Given the description of an element on the screen output the (x, y) to click on. 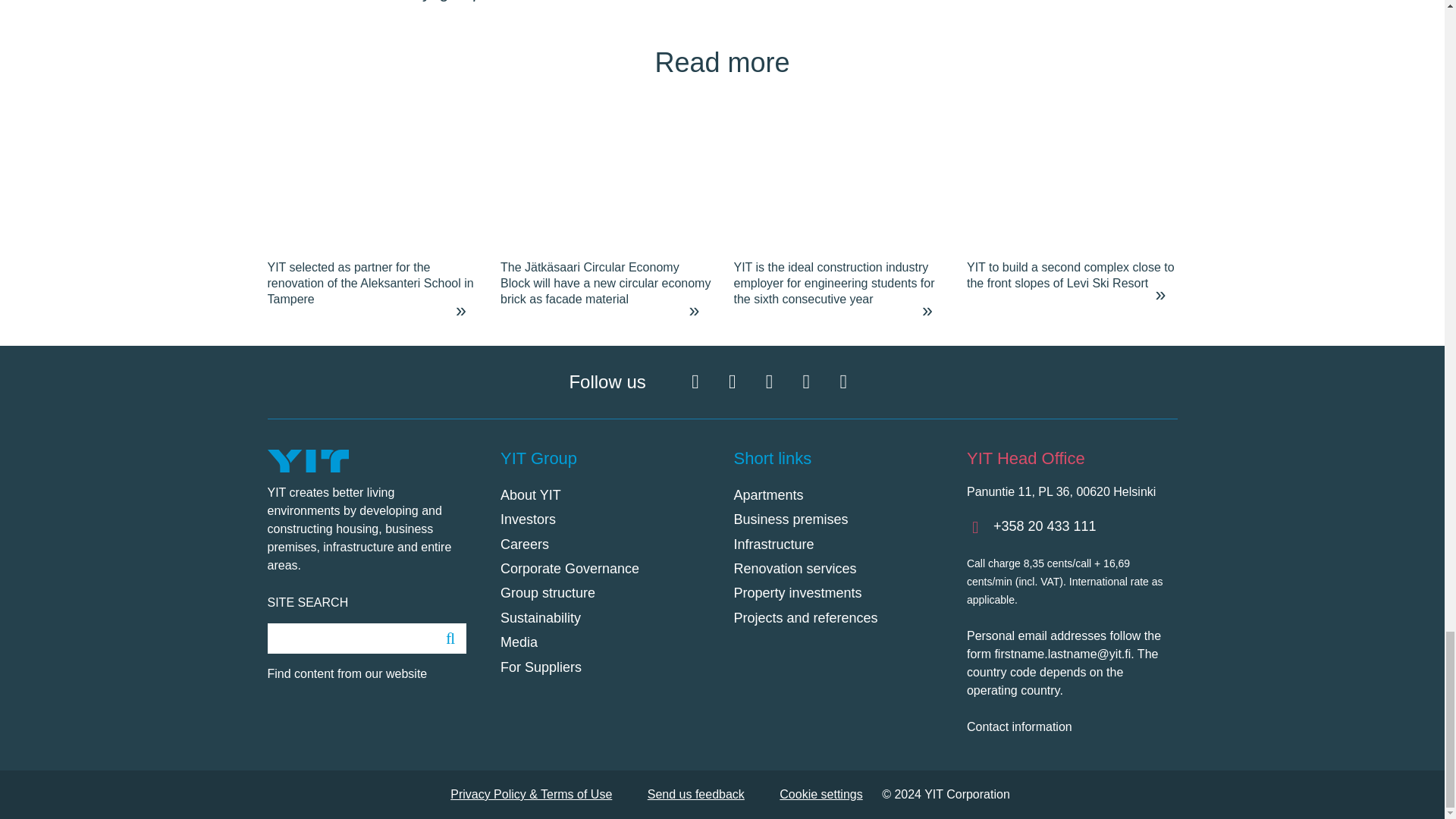
LinkedIn YIT Corporation (769, 381)
YouTube YIT Corporation (805, 381)
Facebook YIT Suomi (694, 381)
YIT Corporation contact information (1071, 727)
